Given the description of an element on the screen output the (x, y) to click on. 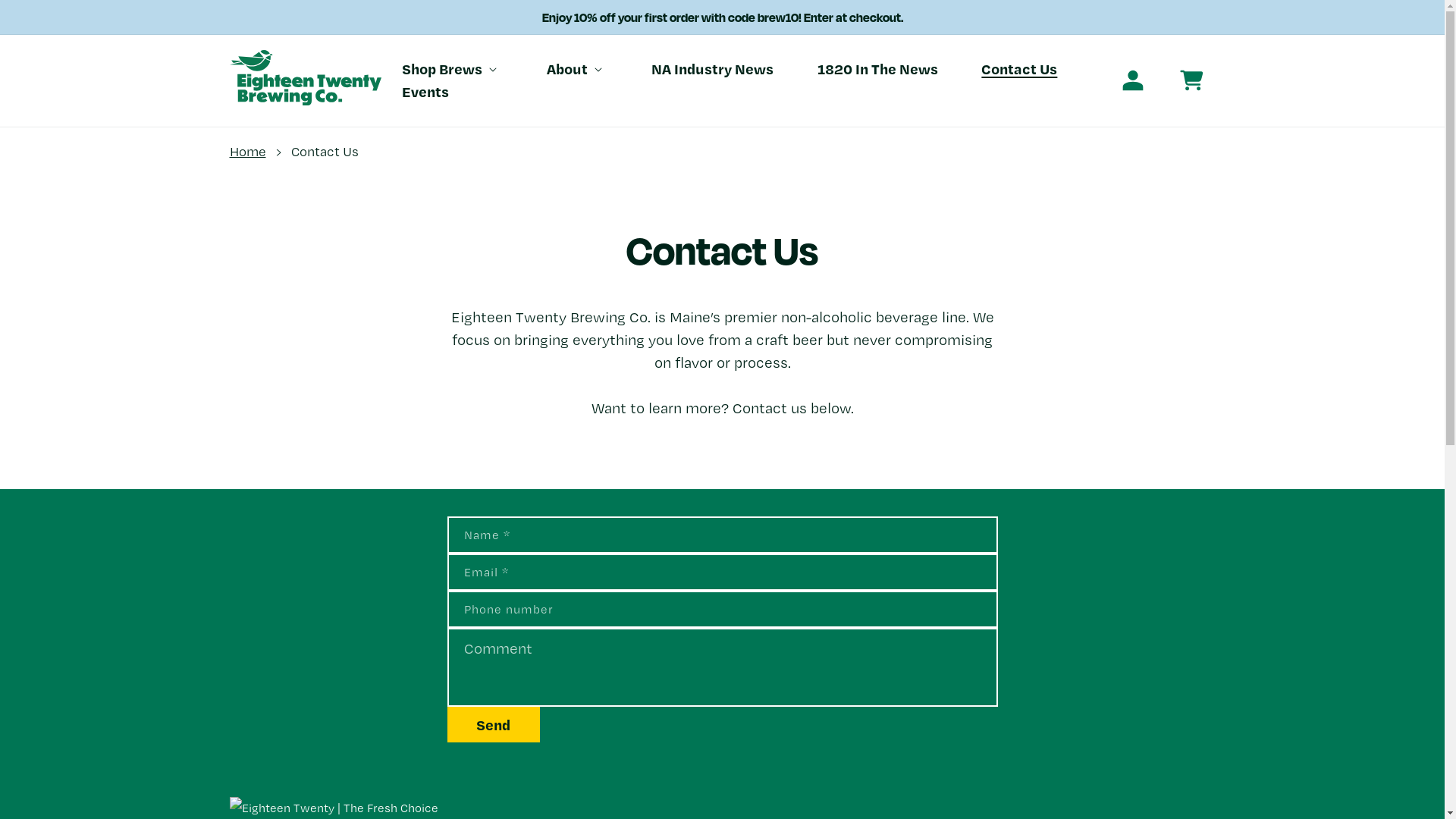
Events Element type: text (424, 91)
1820 In The News Element type: text (877, 68)
Cart Element type: text (1195, 80)
NA Industry News Element type: text (712, 68)
Contact Us Element type: text (1019, 68)
Send Element type: text (493, 724)
Home Element type: text (247, 151)
Log in Element type: text (1132, 80)
Eighteen Twenty Brewing Co.> Element type: text (304, 80)
